Given the description of an element on the screen output the (x, y) to click on. 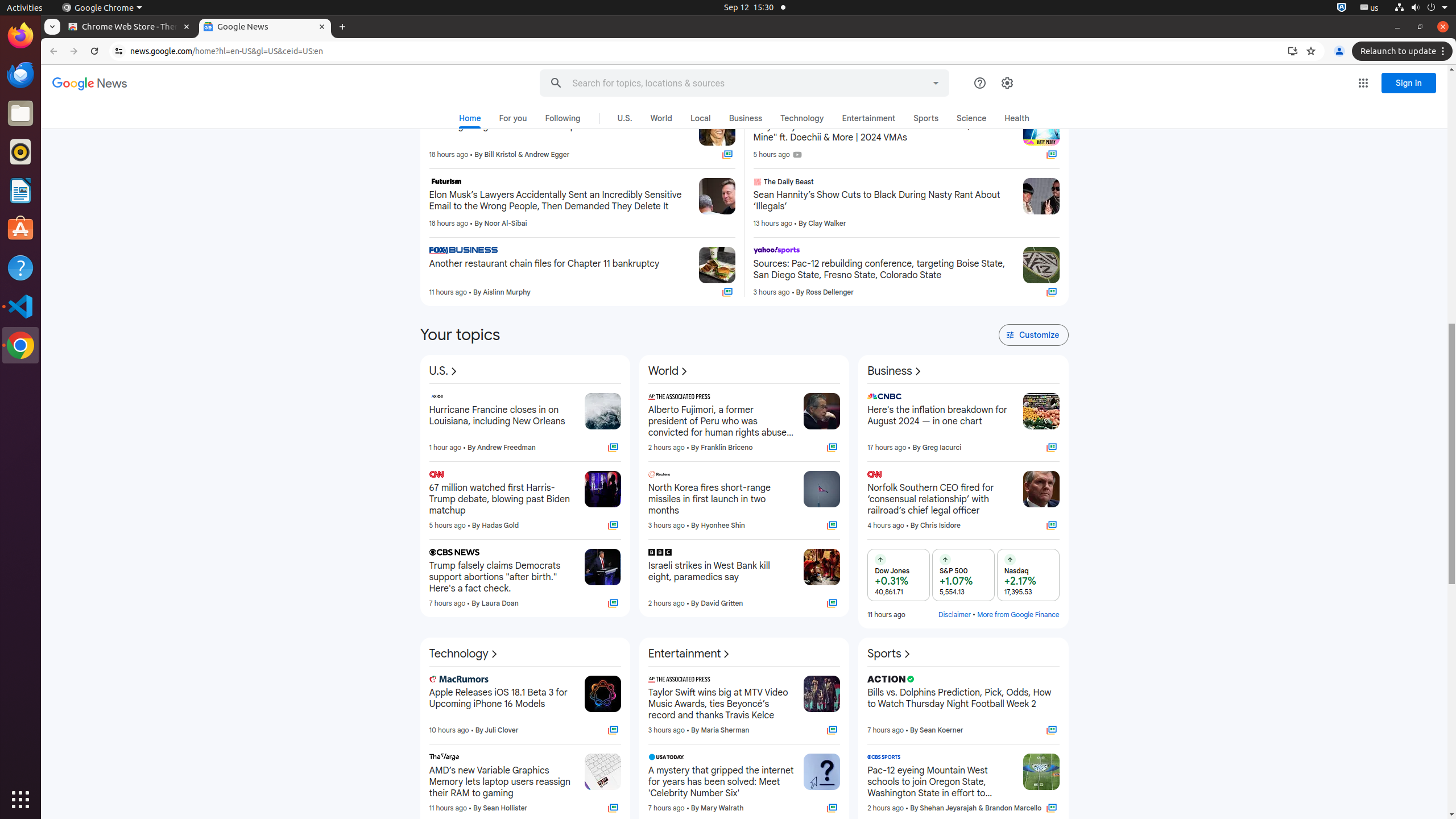
Business Element type: link (895, 371)
System Element type: menu (1420, 7)
Thunderbird Mail Element type: push-button (20, 74)
Pac-12 eyeing Mountain West schools to join Oregon State, Washington State in effort to preserve league Element type: link (940, 781)
Entertainment Element type: menu-item (868, 118)
